Given the description of an element on the screen output the (x, y) to click on. 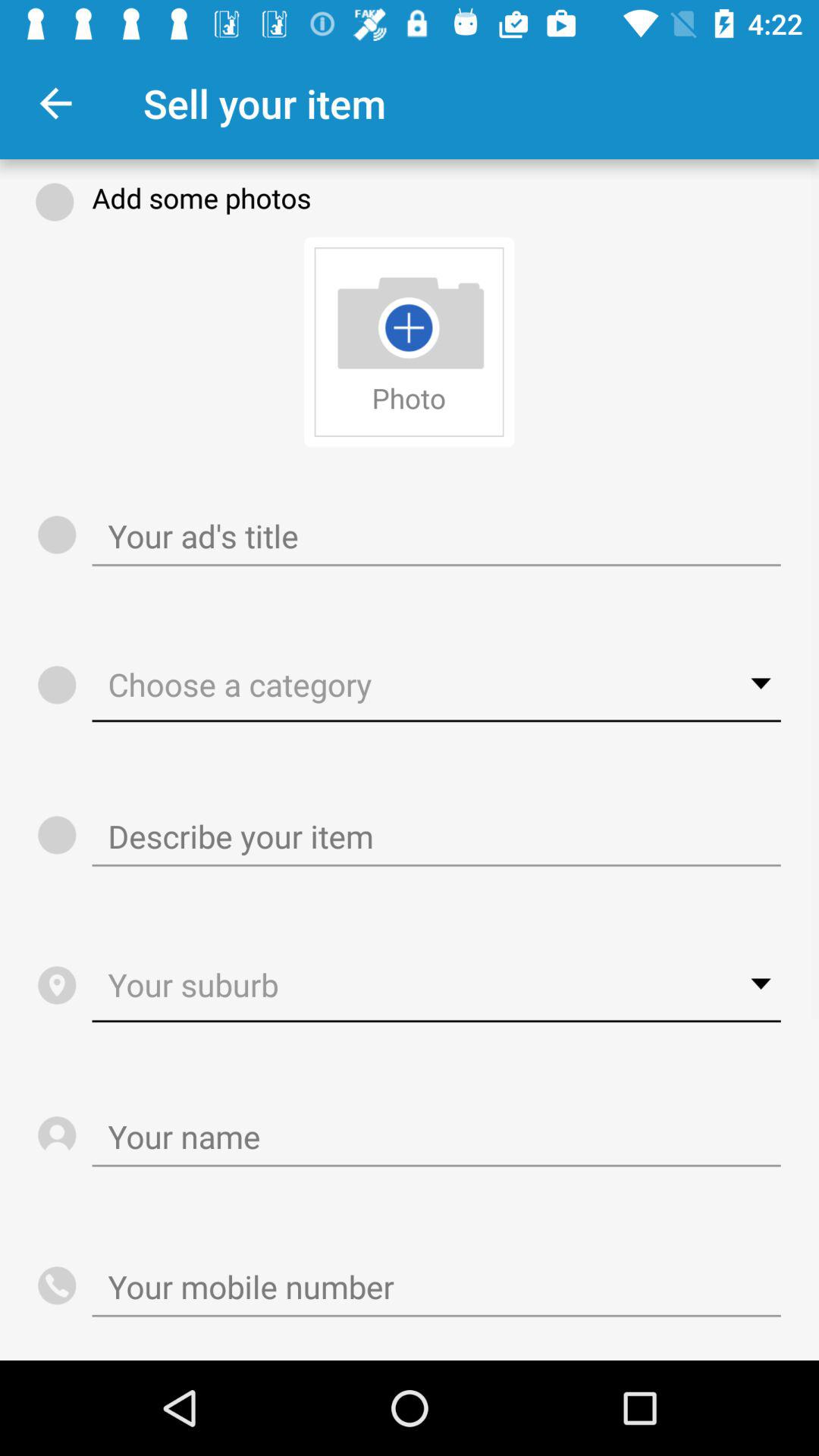
select the text which is below the camera icon (408, 397)
